Given the description of an element on the screen output the (x, y) to click on. 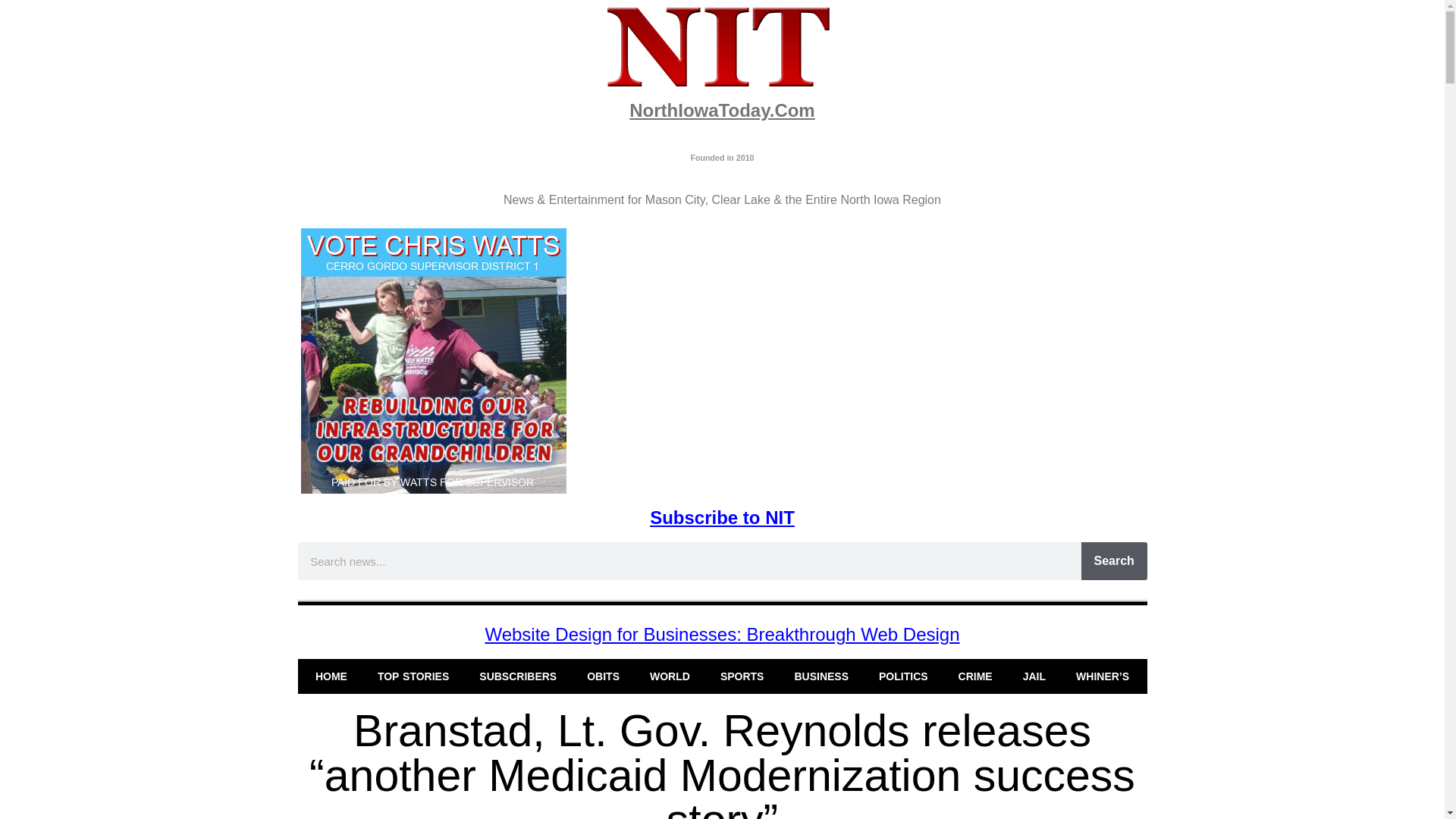
Subscribe to NIT (721, 516)
BUSINESS (820, 676)
SUBSCRIBERS (518, 676)
CRIME (975, 676)
NorthIowaToday.Com (720, 109)
POLITICS (903, 676)
JAIL (1034, 676)
SPORTS (741, 676)
Search (1114, 560)
Website Design for Businesses: Breakthrough Web Design (721, 634)
